Given the description of an element on the screen output the (x, y) to click on. 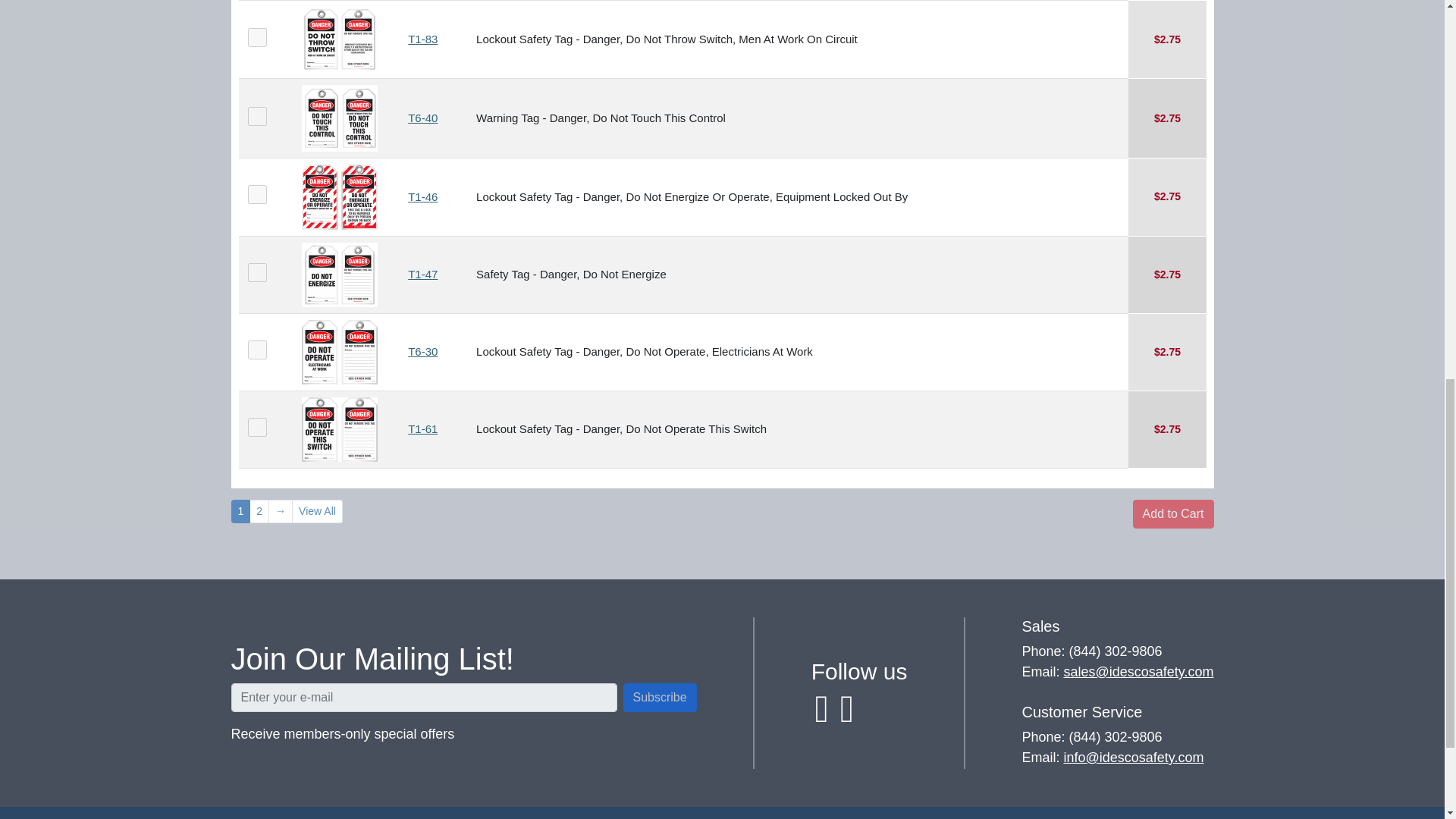
Add to Cart (1173, 512)
25 (256, 36)
25 (256, 271)
Subscribe (660, 697)
25 (256, 115)
25 (256, 425)
25 (256, 194)
25 (256, 348)
